Given the description of an element on the screen output the (x, y) to click on. 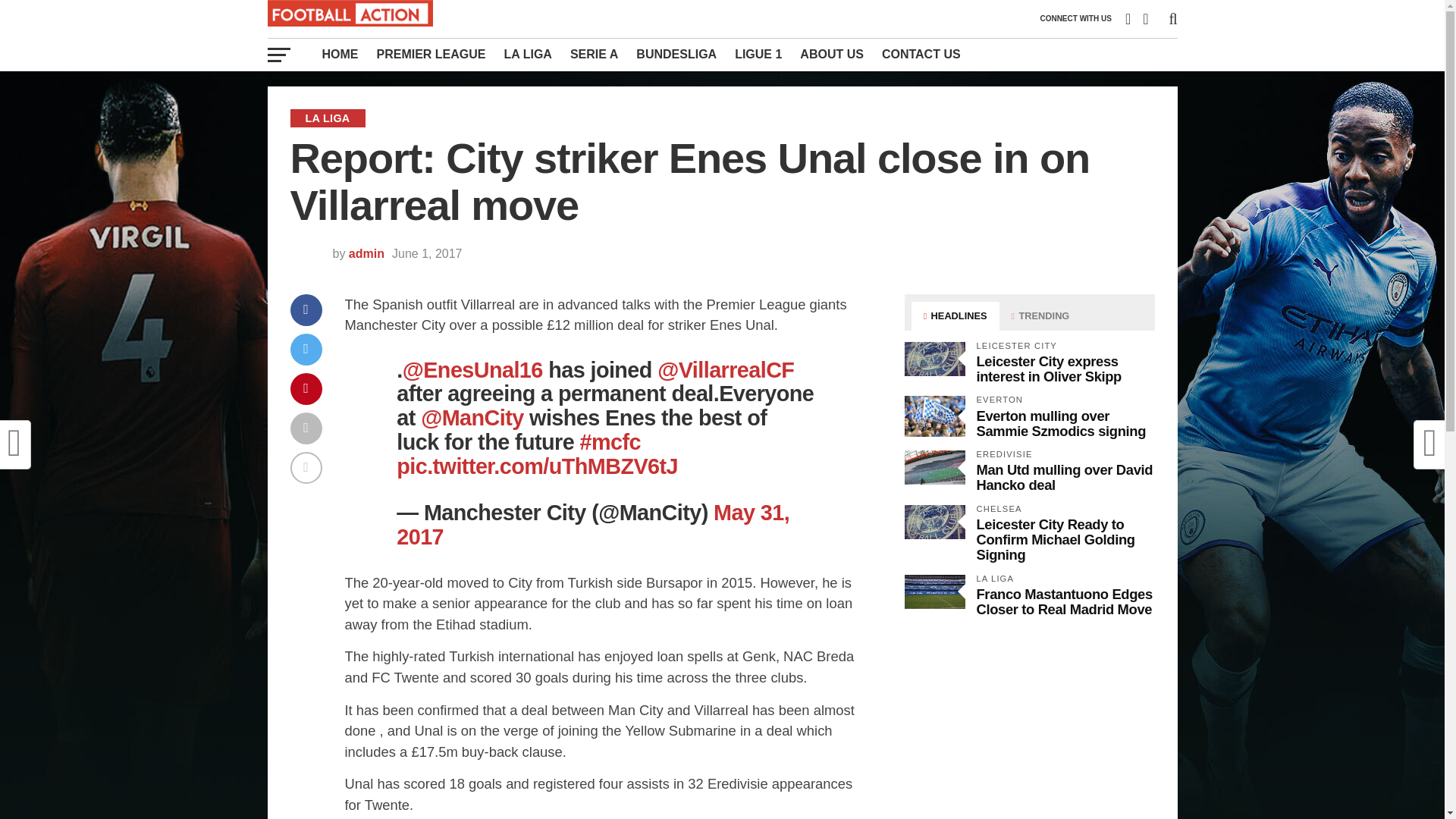
May 31, 2017 (592, 524)
admin (366, 253)
TRENDING (1039, 316)
Leicester City express interest in Oliver Skipp (1048, 368)
HEADLINES (954, 316)
SERIE A (593, 54)
HOME (339, 54)
CONTACT US (920, 54)
Posts by admin (366, 253)
ABOUT US (831, 54)
PREMIER LEAGUE (430, 54)
BUNDESLIGA (676, 54)
LIGUE 1 (757, 54)
LA LIGA (527, 54)
